Given the description of an element on the screen output the (x, y) to click on. 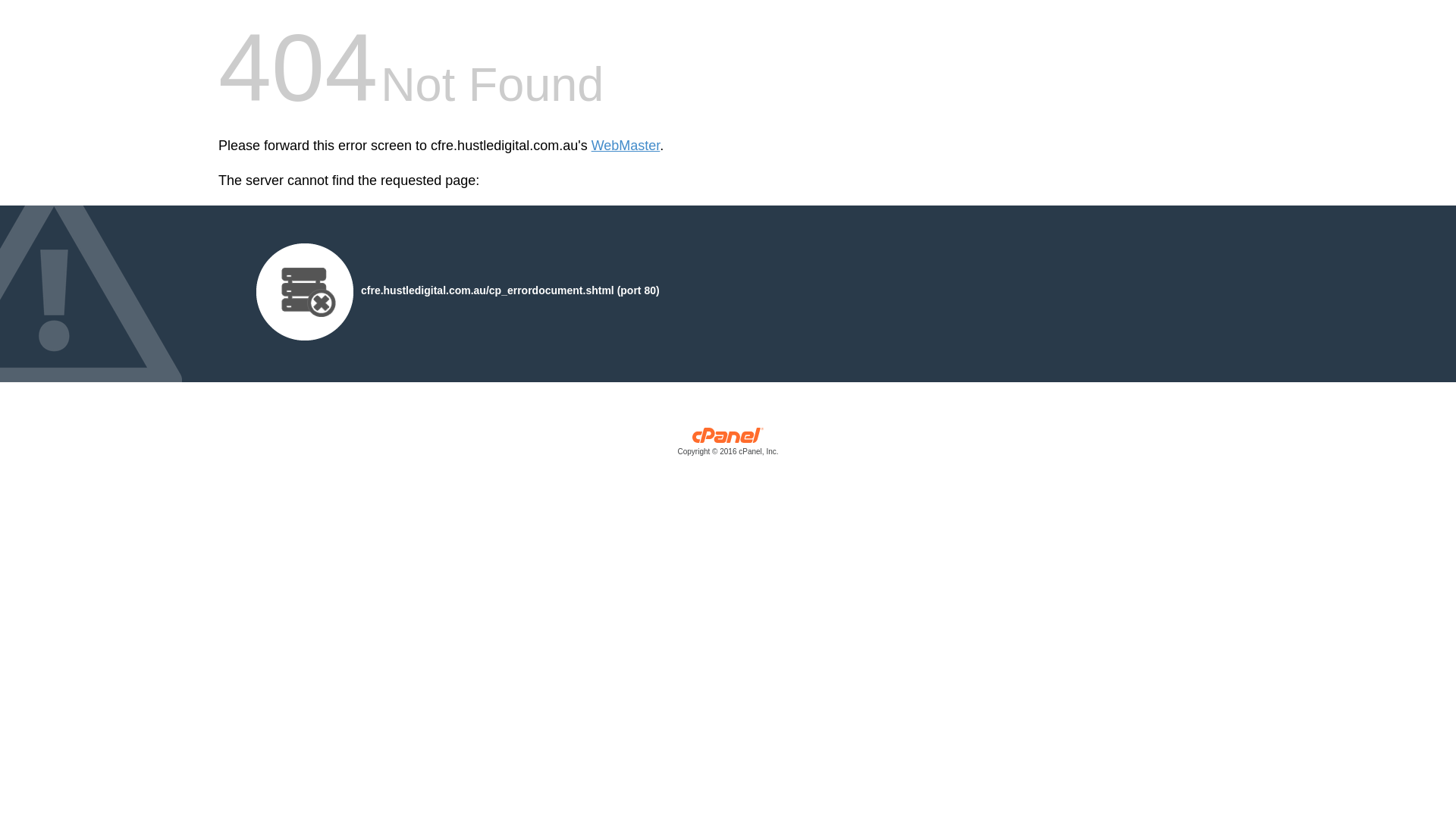
WebMaster Element type: text (625, 145)
